Given the description of an element on the screen output the (x, y) to click on. 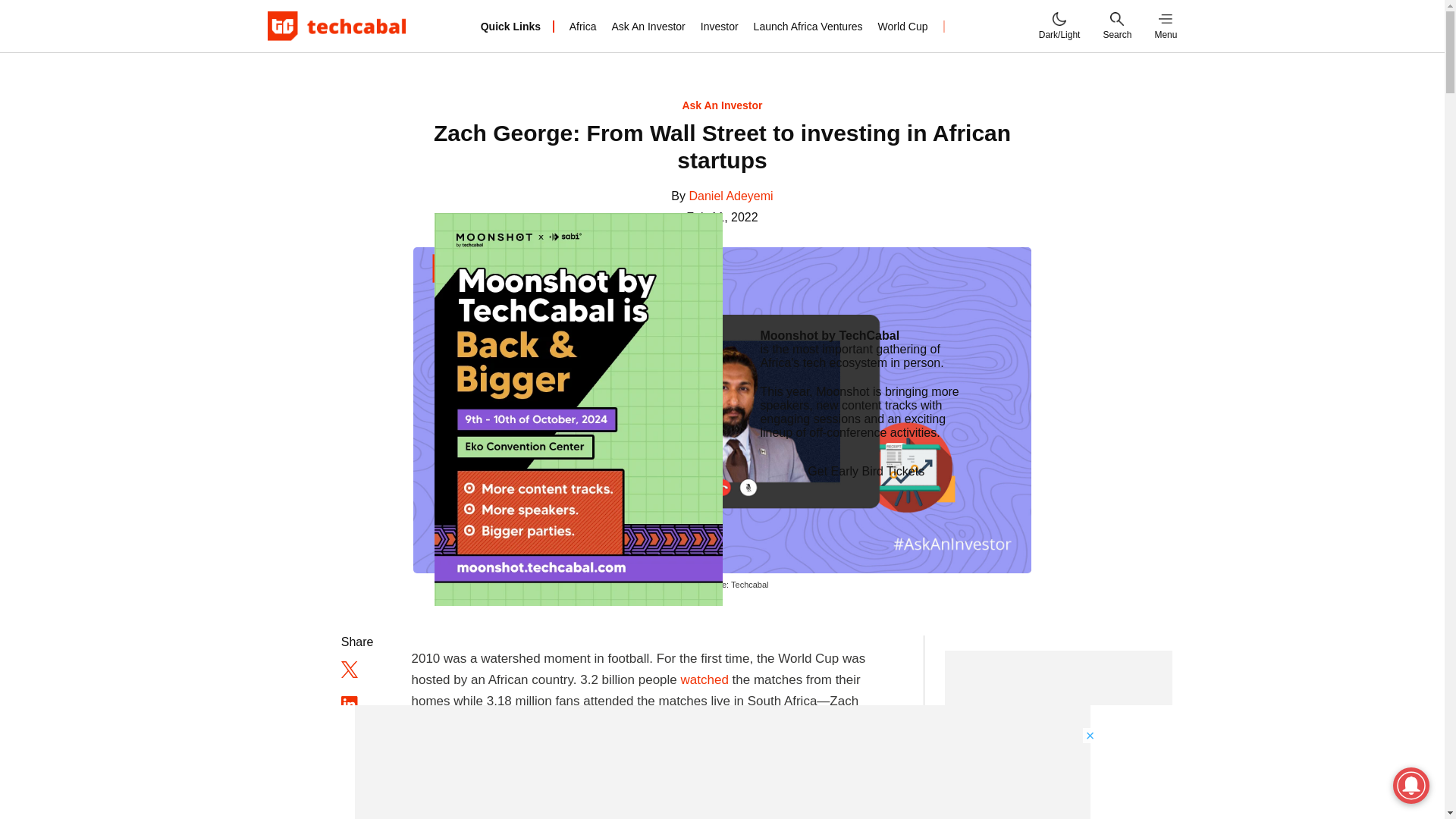
Posts by Daniel Adeyemi (730, 195)
Launch Africa Ventures (808, 25)
Ask An Investor (648, 25)
Search (1116, 26)
3rd party ad content (1058, 734)
Africa (582, 25)
World Cup (902, 25)
Investor (719, 25)
3rd party ad content (722, 762)
